Given the description of an element on the screen output the (x, y) to click on. 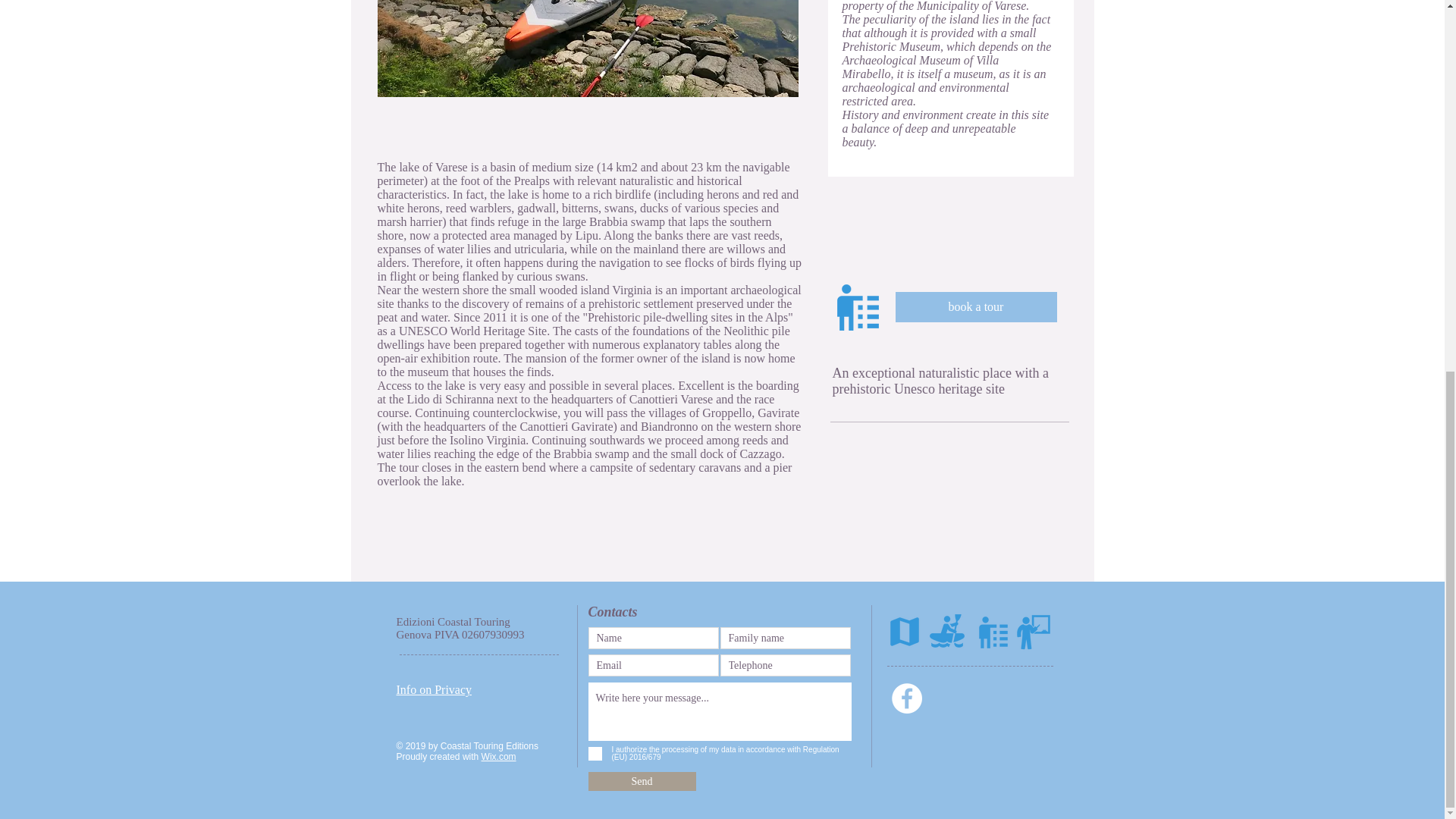
book a tour (976, 306)
Info on Privacy (433, 689)
Wix.com (498, 756)
Send (641, 781)
